Given the description of an element on the screen output the (x, y) to click on. 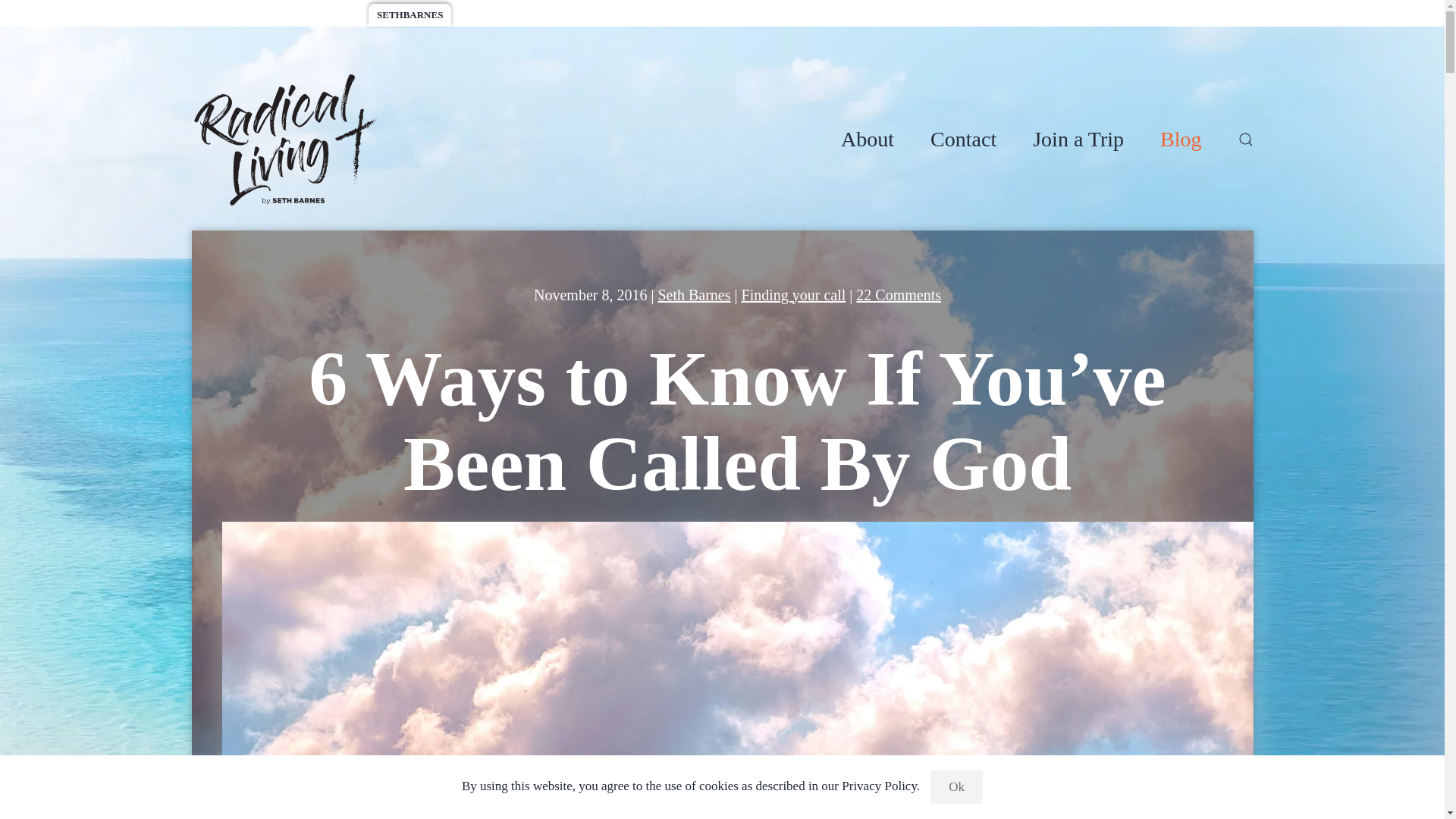
Seth Barnes (694, 294)
SETHBARNES (409, 15)
WORLDRACE (322, 15)
GIVING (573, 15)
ADVENTURES (235, 15)
SPONSORSHIP (498, 15)
Contact (962, 139)
About (867, 139)
Blog (1180, 139)
Finding your call (793, 294)
Join a Trip (1078, 139)
